Given the description of an element on the screen output the (x, y) to click on. 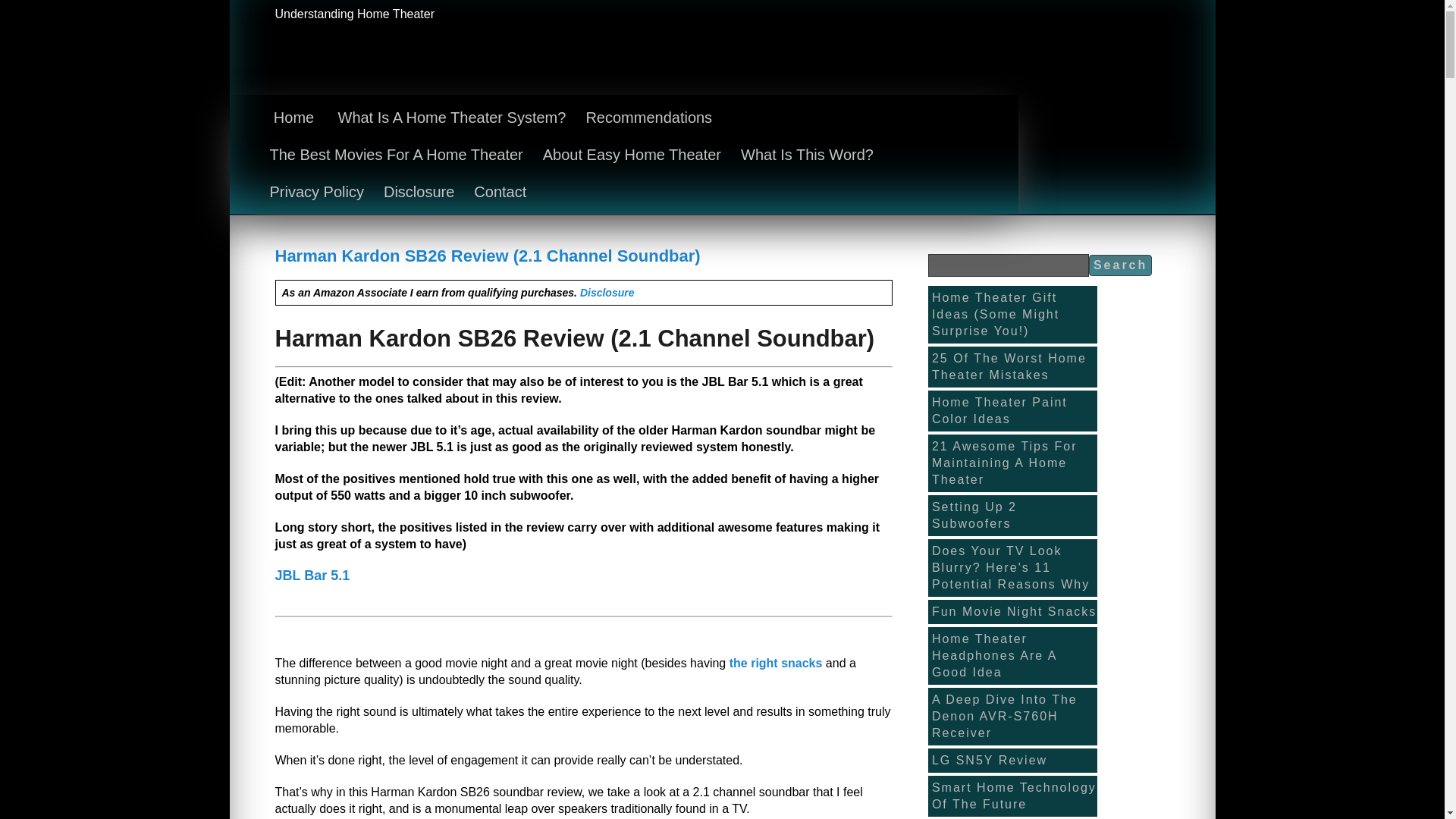
Recommendations (648, 117)
The Best Movies For A Home Theater (396, 154)
Contact (499, 192)
Disclosure (418, 192)
Disclosure (606, 292)
JBL Bar 5.1 (312, 575)
the right snacks (775, 662)
What Is A Home Theater System? (451, 117)
Privacy Policy (316, 192)
What Is This Word? (807, 154)
